Given the description of an element on the screen output the (x, y) to click on. 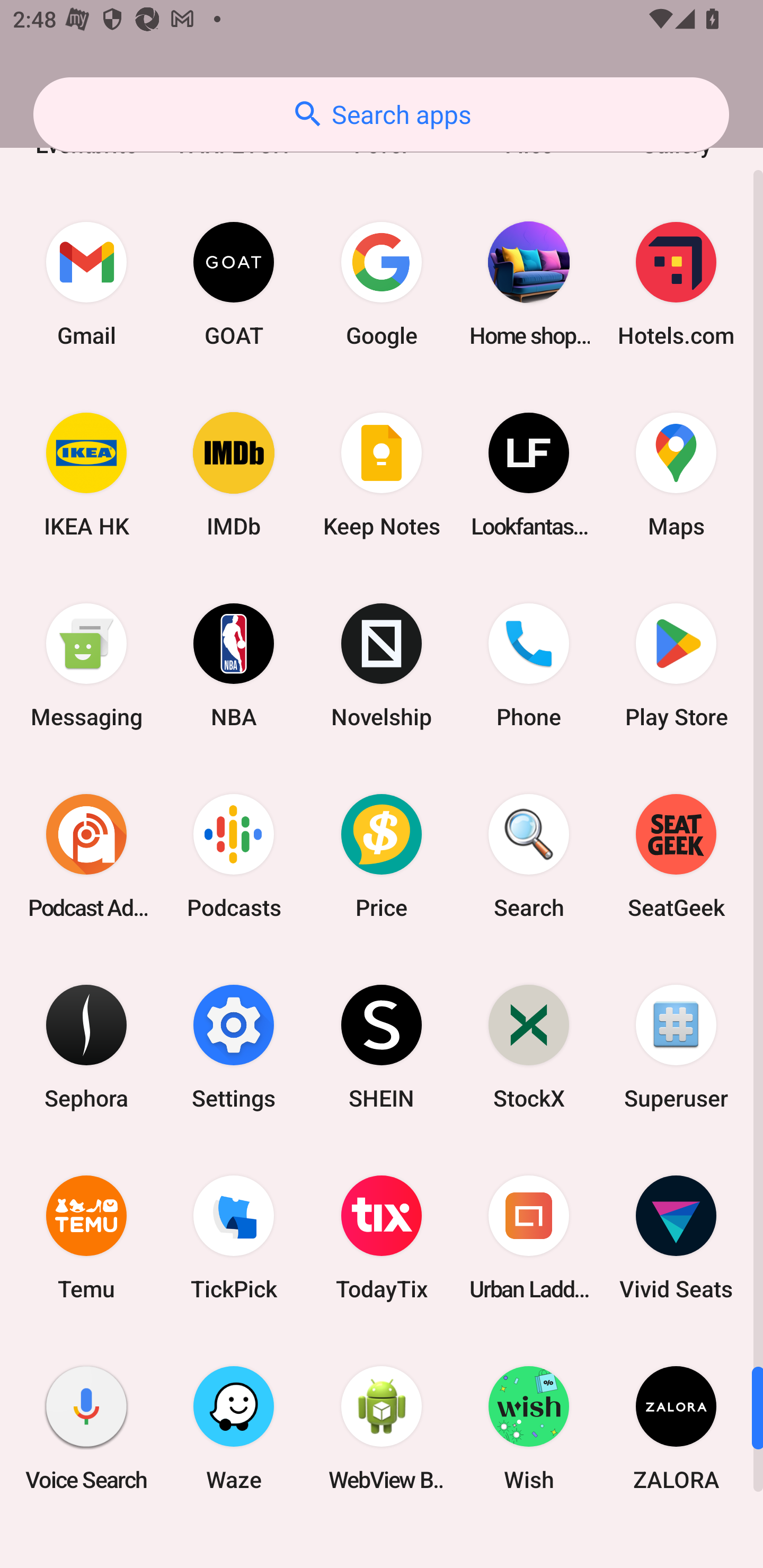
  Search apps (381, 114)
Gmail (86, 283)
GOAT (233, 283)
Google (381, 283)
Home shopping (528, 283)
Hotels.com (676, 283)
IKEA HK (86, 474)
IMDb (233, 474)
Keep Notes (381, 474)
Lookfantastic (528, 474)
Maps (676, 474)
Messaging (86, 665)
NBA (233, 665)
Novelship (381, 665)
Phone (528, 665)
Play Store (676, 665)
Podcast Addict (86, 855)
Podcasts (233, 855)
Price (381, 855)
Search (528, 855)
SeatGeek (676, 855)
Sephora (86, 1046)
Settings (233, 1046)
SHEIN (381, 1046)
StockX (528, 1046)
Superuser (676, 1046)
Temu (86, 1236)
TickPick (233, 1236)
TodayTix (381, 1236)
Urban Ladder (528, 1236)
Vivid Seats (676, 1236)
Voice Search (86, 1428)
Waze (233, 1428)
WebView Browser Tester (381, 1428)
Wish (528, 1428)
ZALORA (676, 1428)
